Given the description of an element on the screen output the (x, y) to click on. 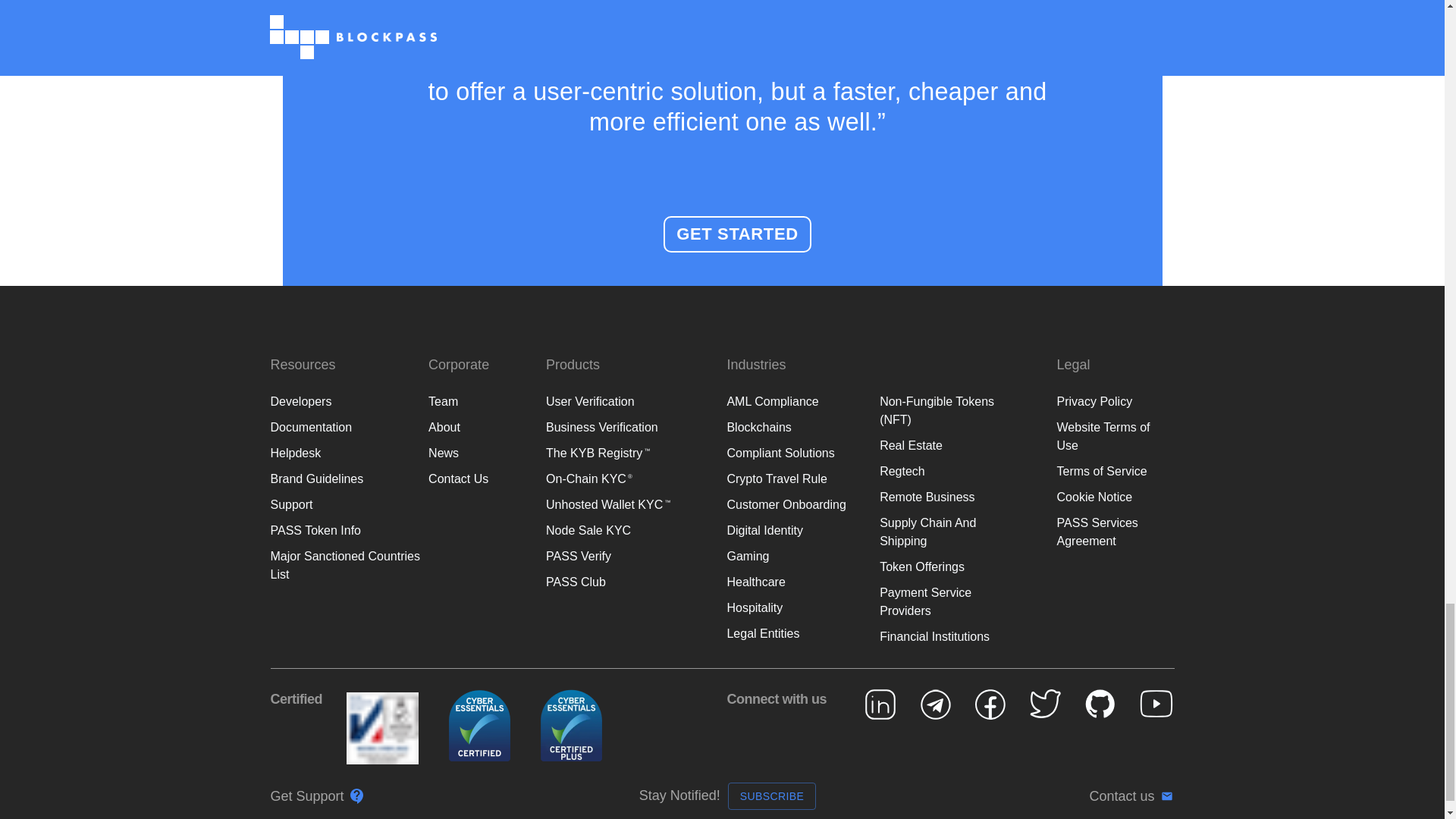
Brand Guidelines (315, 478)
User Verification (590, 400)
Team (443, 400)
Contact Us (457, 478)
Helpdesk (294, 452)
News (443, 452)
PASS Club (575, 581)
Developers (300, 400)
Node Sale KYC (588, 530)
About (444, 427)
